Given the description of an element on the screen output the (x, y) to click on. 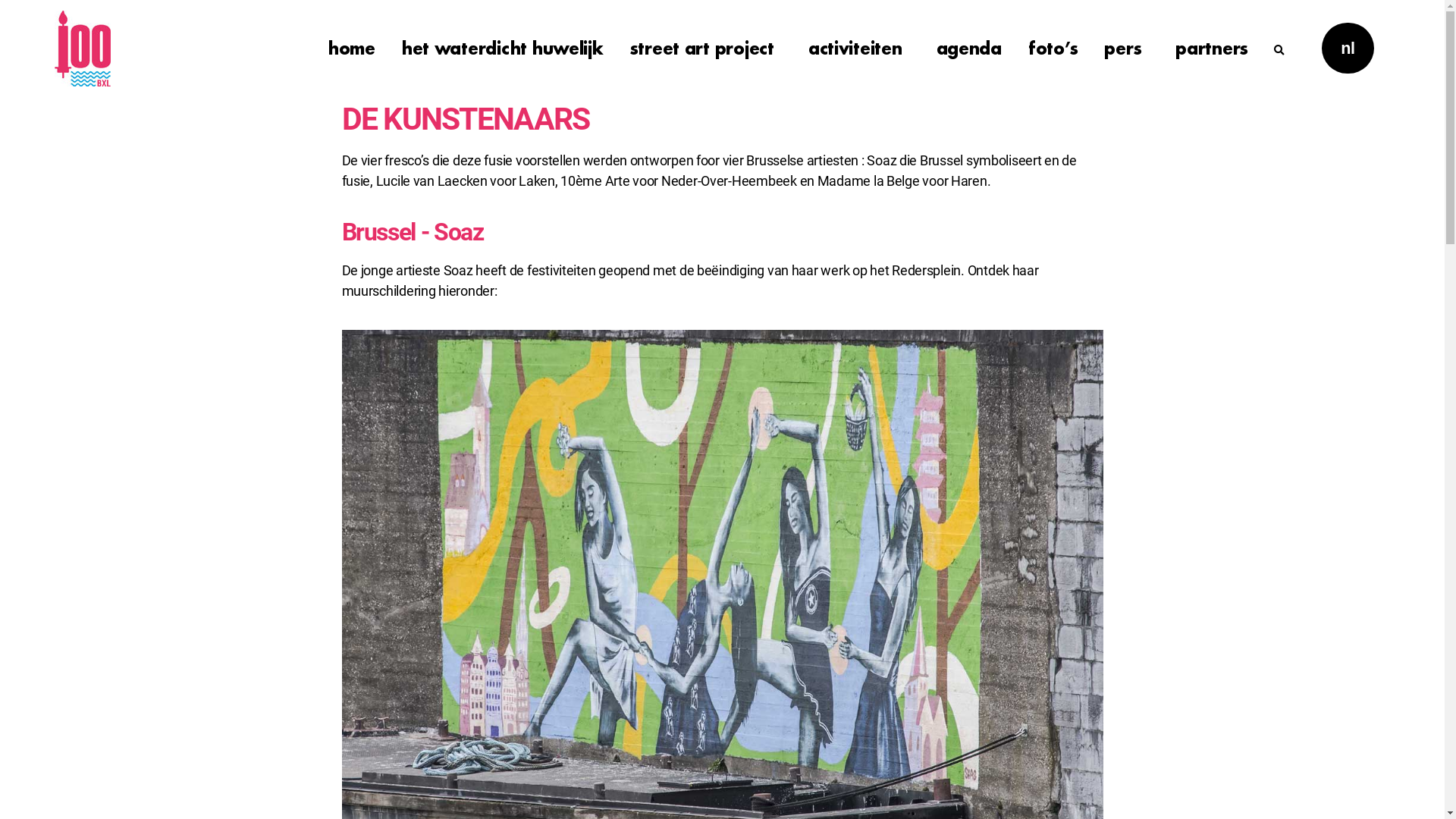
pers Element type: text (1126, 47)
agenda Element type: text (968, 47)
het waterdicht huwelijk Element type: text (502, 47)
street art project Element type: text (705, 47)
partners Element type: text (1211, 47)
home Element type: text (351, 47)
activiteiten Element type: text (859, 47)
nl Element type: text (1350, 48)
